Given the description of an element on the screen output the (x, y) to click on. 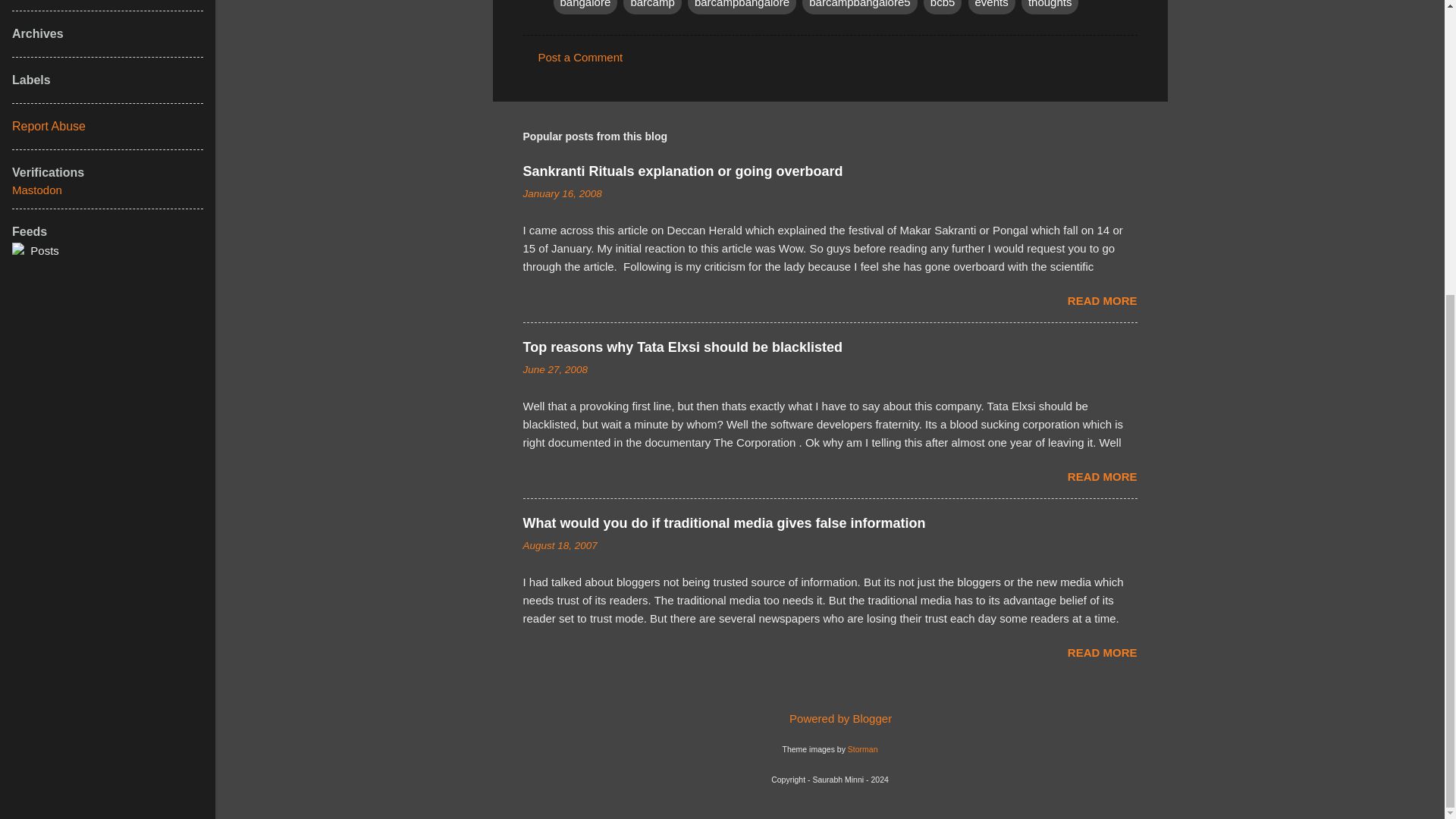
August 18, 2007 (559, 545)
June 27, 2008 (555, 369)
Post a Comment (580, 56)
READ MORE (1102, 476)
barcampbangalore (741, 6)
January 16, 2008 (562, 193)
Sankranti Rituals explanation or going overboard (682, 171)
barcamp (652, 6)
Top reasons why Tata Elxsi should be blacklisted (682, 346)
events (991, 6)
